Given the description of an element on the screen output the (x, y) to click on. 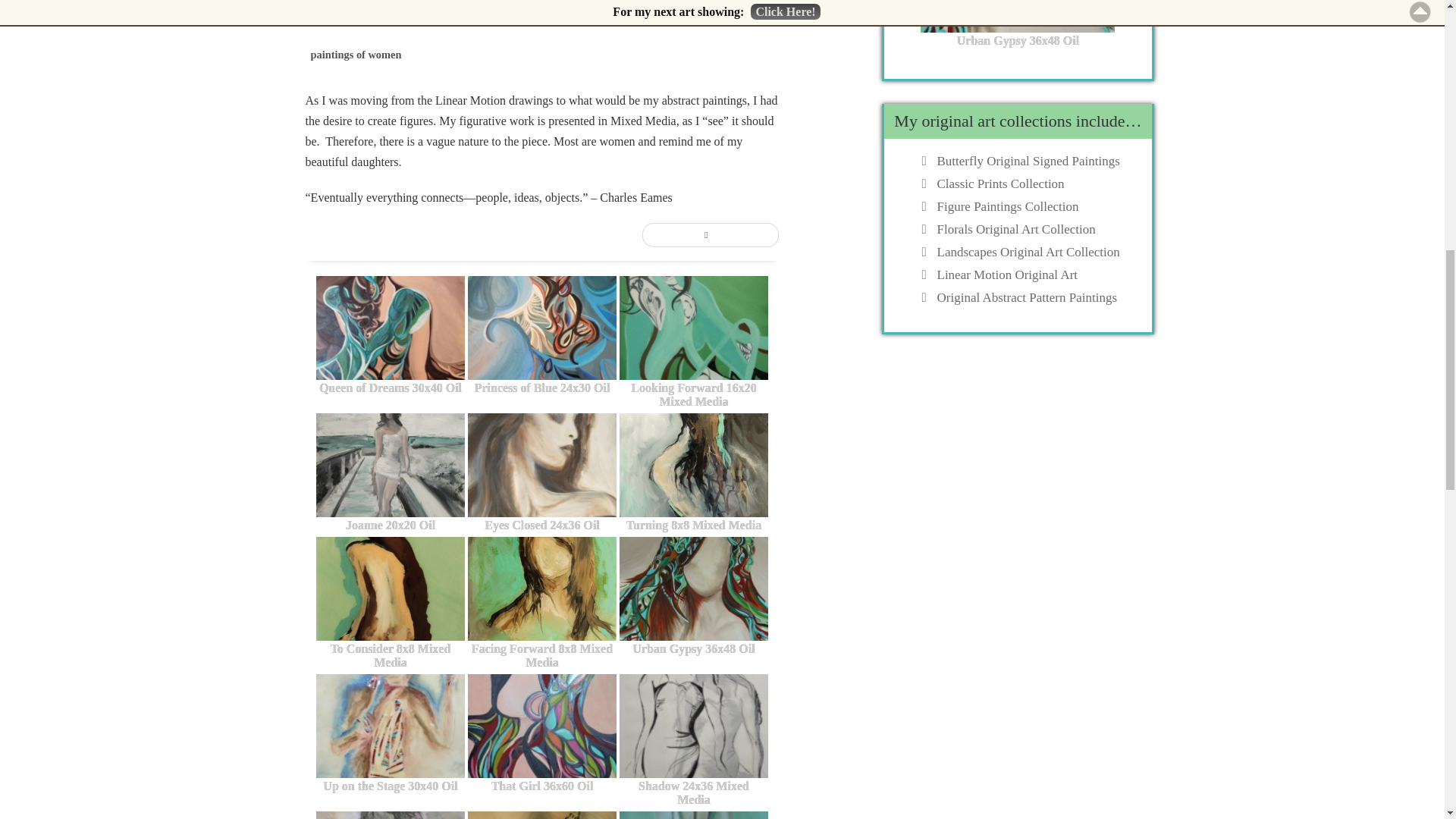
Up on the Stage 30x40 Oil (389, 734)
Princess of Blue 24x30 Oil (541, 336)
His Touch 30x40 Oil (541, 815)
original figural artists (484, 18)
Eyes Closed 24x36 Oil (541, 473)
figure paintings (379, 18)
Shadow 24x36 Mixed Media (694, 741)
To Consider 8x8 Mixed Media (389, 603)
Turning 8x8 Mixed Media (694, 473)
Facing Forward 8x8 Mixed Media (541, 603)
Queen of Dreams 30x40 Oil (389, 336)
Lavender 30x40 Oil (389, 815)
Urban Gypsy 36x48 Oil (694, 597)
paintings of women (355, 54)
Joanne 20x20 Oil (389, 473)
